Given the description of an element on the screen output the (x, y) to click on. 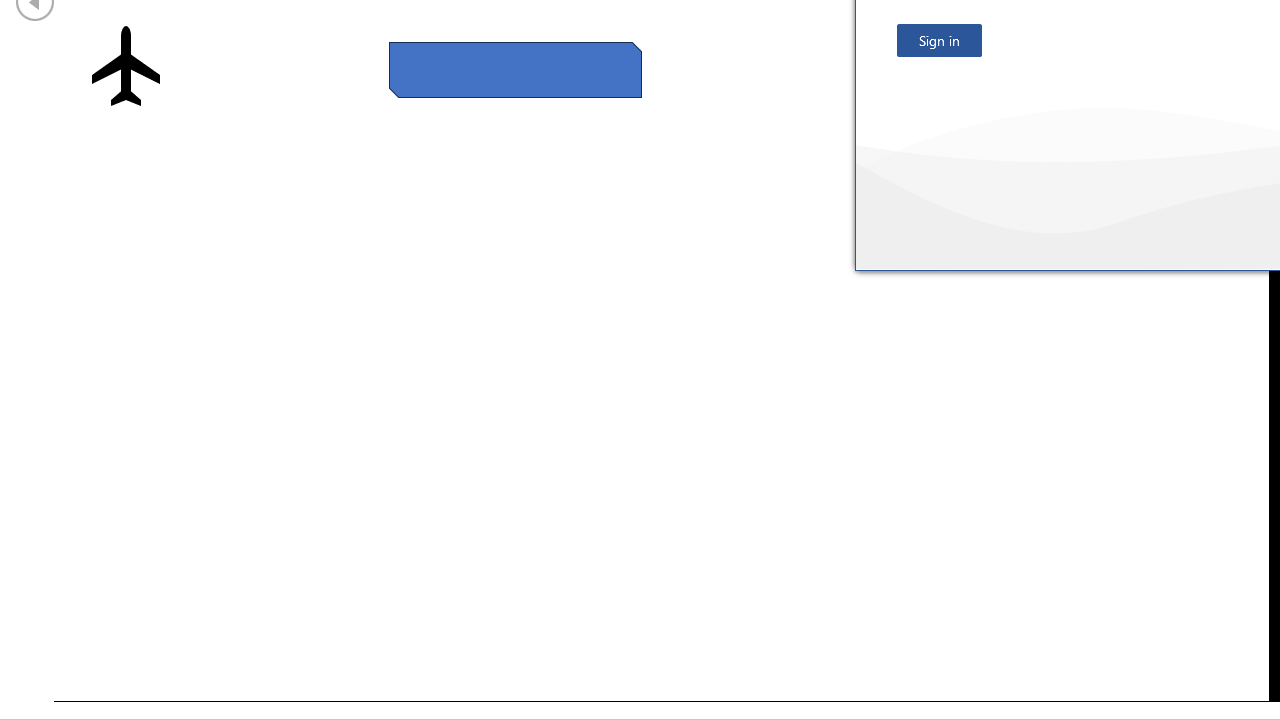
Airplane with solid fill (126, 65)
Sign in (939, 39)
Rectangle: Diagonal Corners Snipped 2 (515, 69)
